Given the description of an element on the screen output the (x, y) to click on. 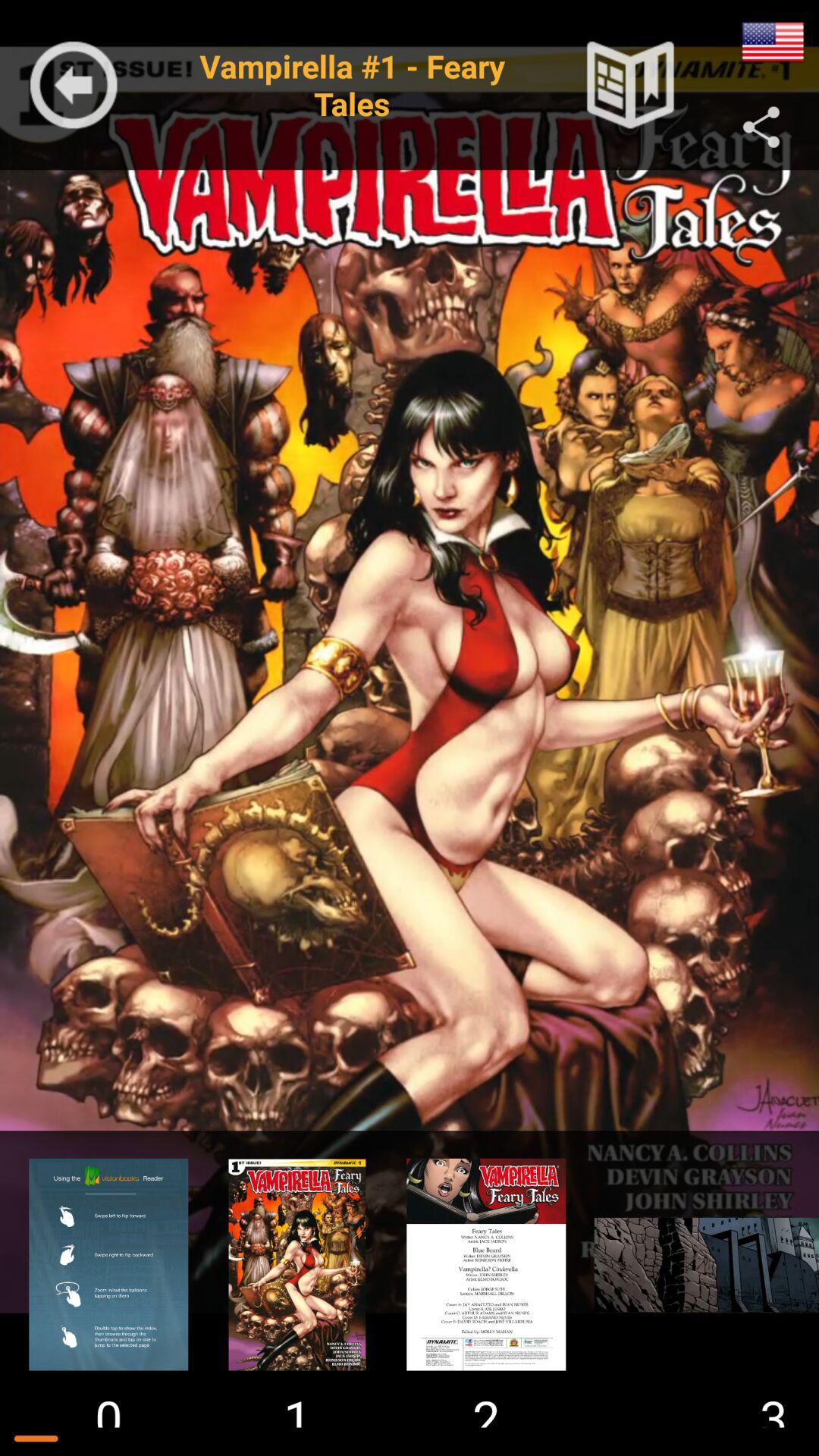
open image (486, 1264)
